Given the description of an element on the screen output the (x, y) to click on. 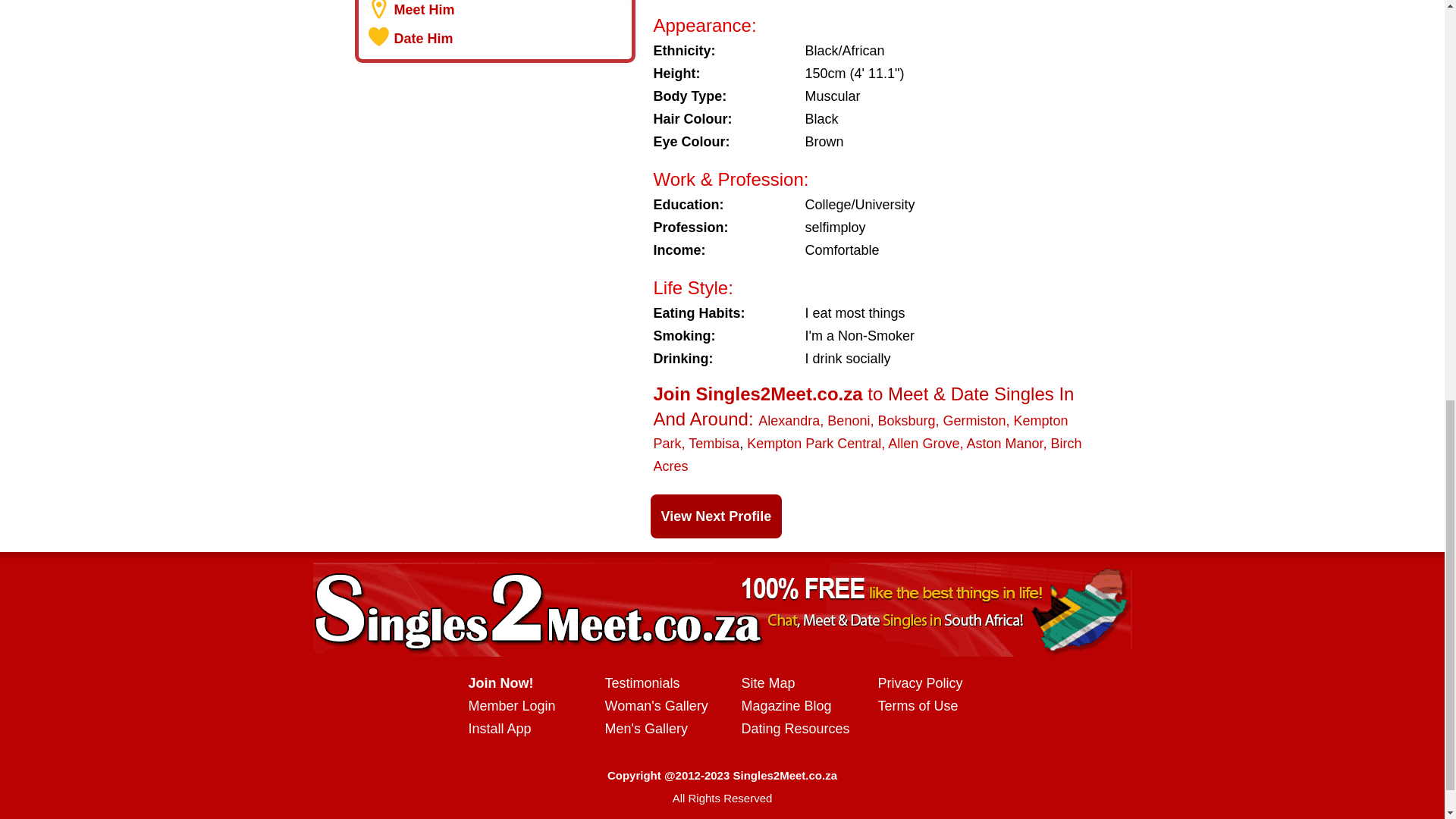
Join Now! (501, 683)
Boksburg (905, 420)
Meet Him (424, 9)
Testimonials (642, 683)
Birch Acres (867, 454)
Kempton Park Central (813, 443)
Privacy Policy (919, 683)
Alexandra (788, 420)
Benoni (848, 420)
Kempton Park (860, 432)
